Given the description of an element on the screen output the (x, y) to click on. 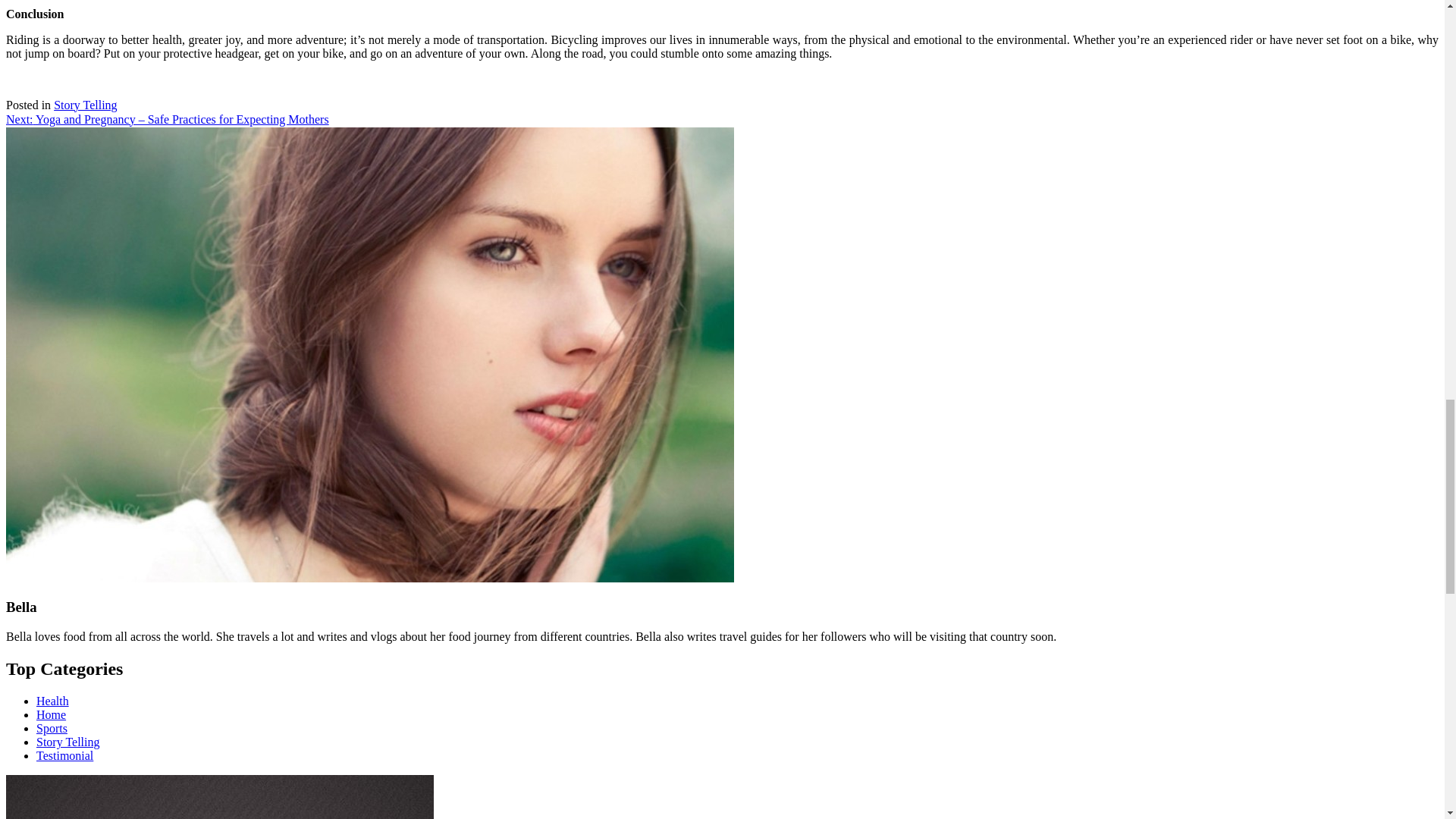
Testimonial (64, 755)
Story Telling (84, 104)
Home (50, 714)
Story Telling (67, 741)
Sports (51, 727)
Health (52, 700)
